Given the description of an element on the screen output the (x, y) to click on. 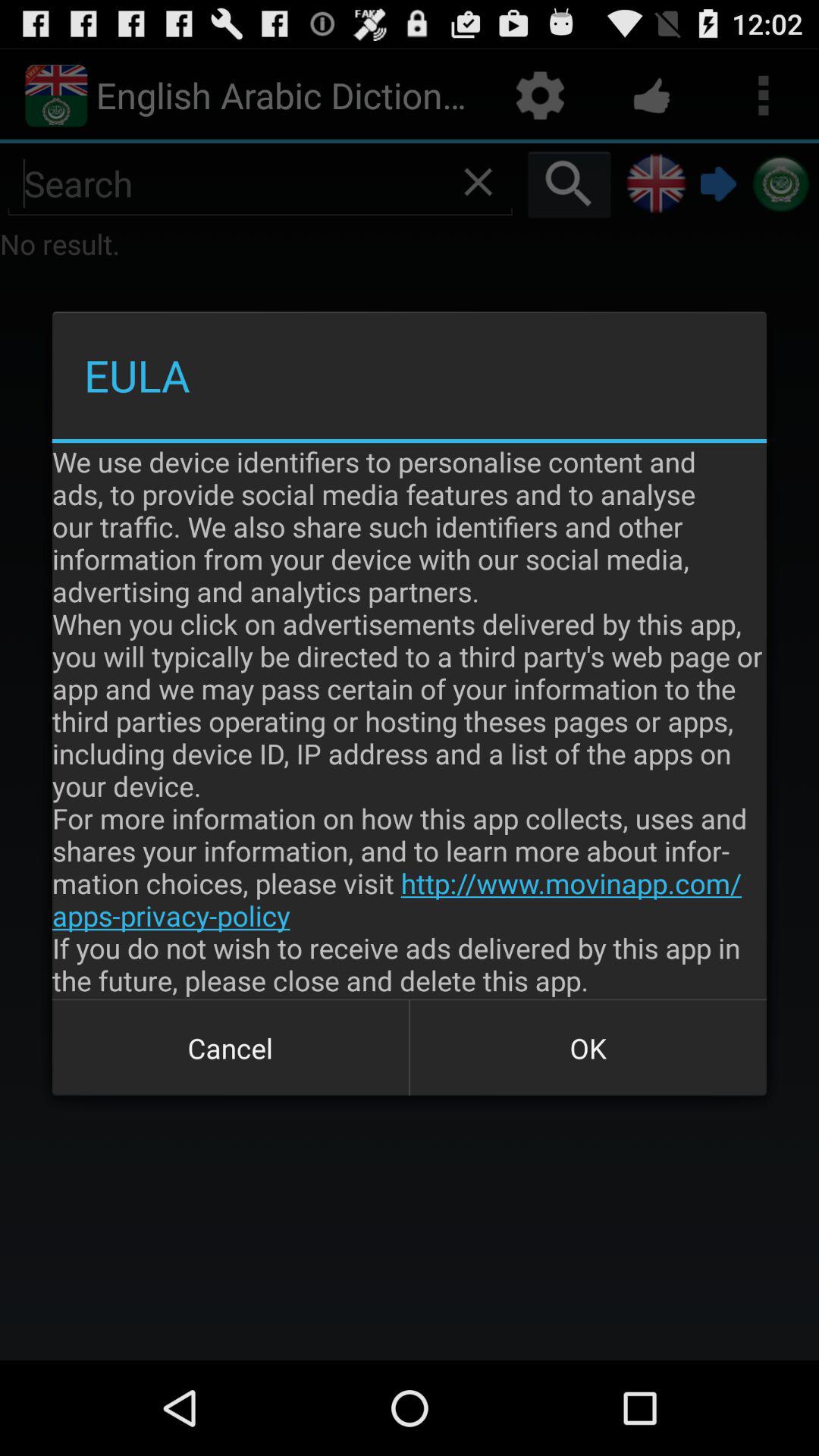
scroll until the ok item (588, 1047)
